Given the description of an element on the screen output the (x, y) to click on. 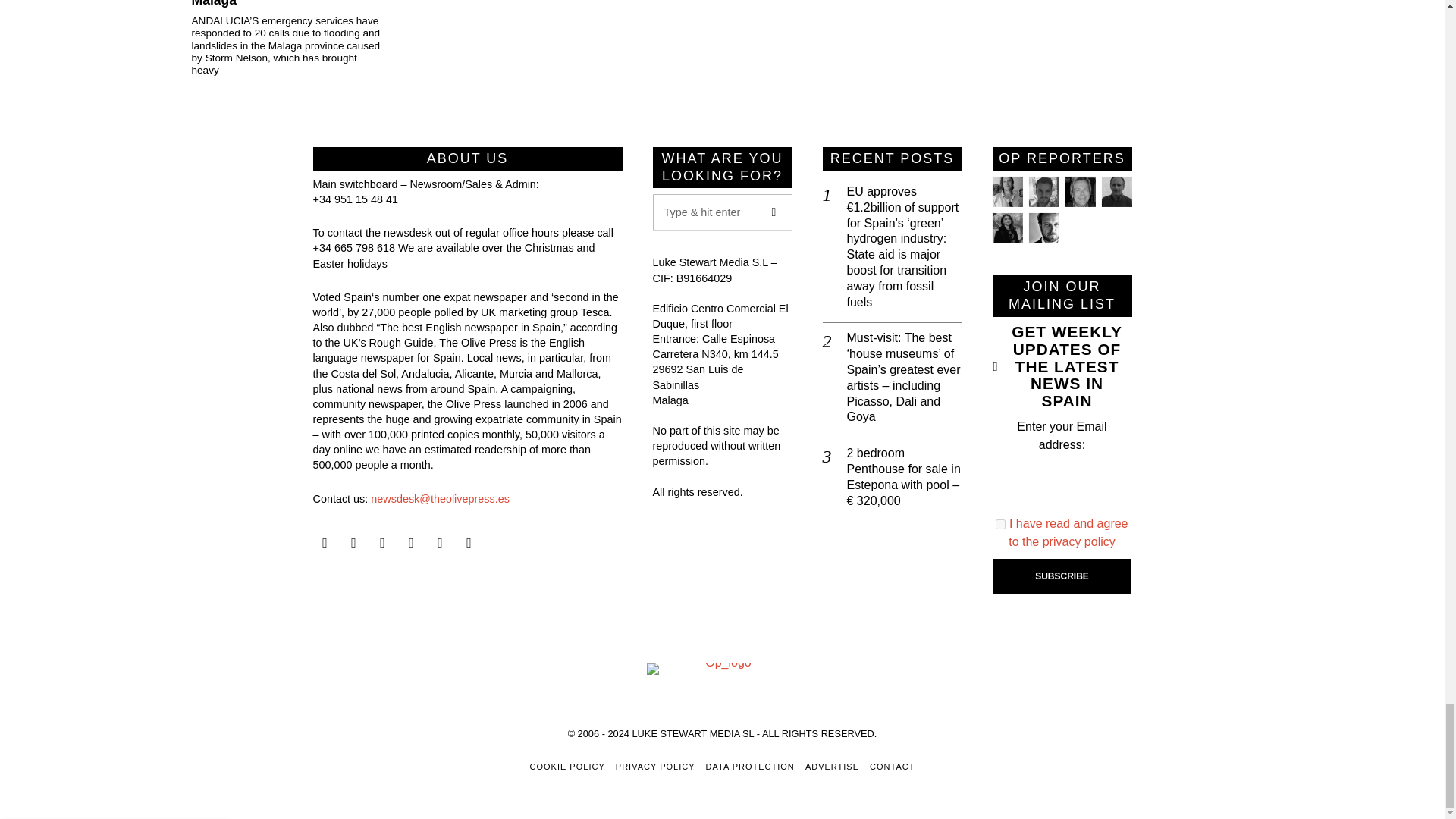
SUBSCRIBE (1061, 575)
1 (1000, 524)
Alex Trelinski (1079, 191)
Go (773, 212)
Dilip Kuner (1115, 191)
Laurence Dollimore (1042, 191)
